Given the description of an element on the screen output the (x, y) to click on. 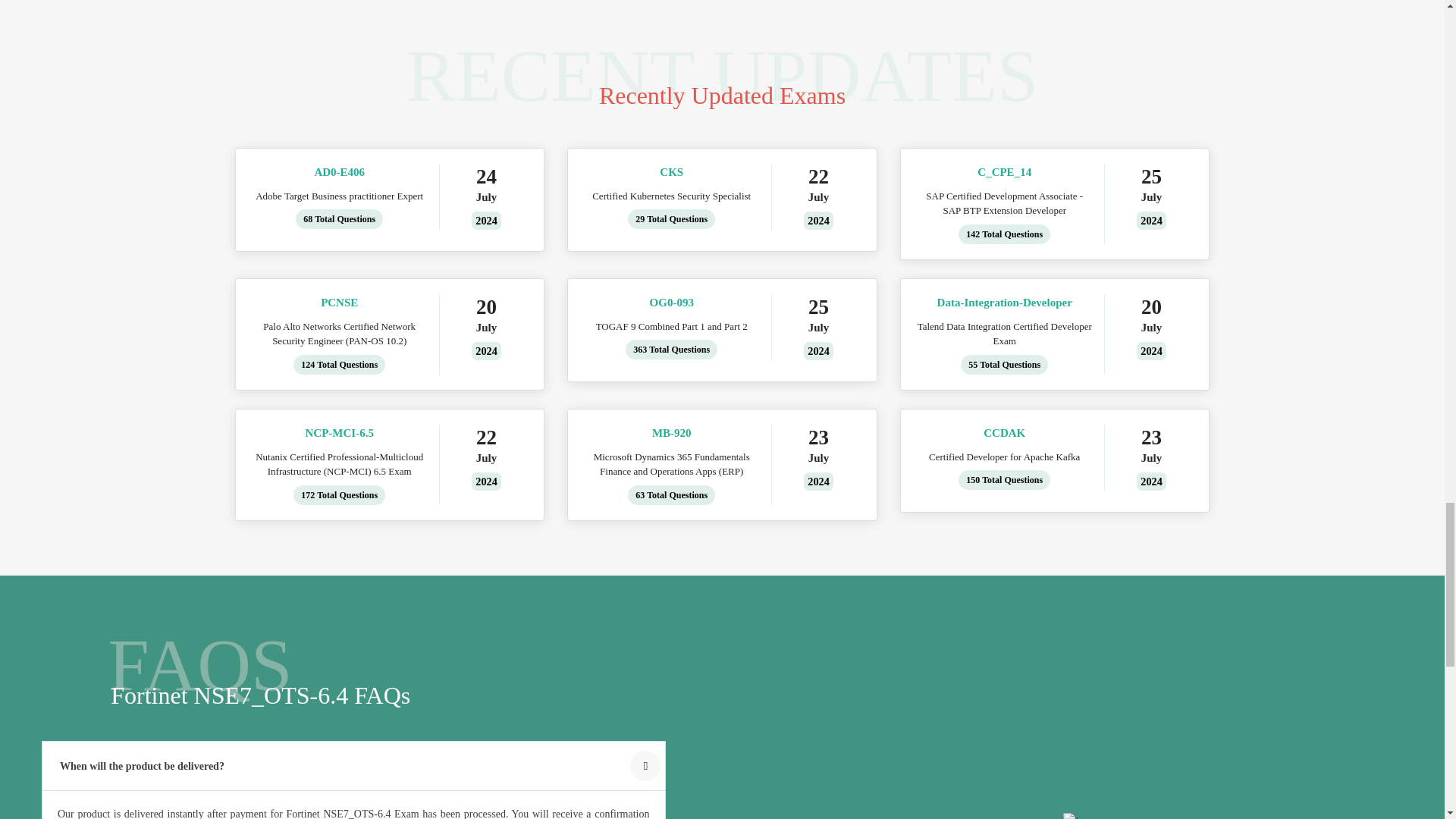
CKS (671, 171)
Data-Integration-Developer (1004, 303)
NCP-MCI-6.5 (338, 433)
PCNSE (338, 303)
CCDAK (1004, 433)
AD0-E406 (338, 171)
OG0-093 (671, 303)
MB-920 (671, 433)
